Given the description of an element on the screen output the (x, y) to click on. 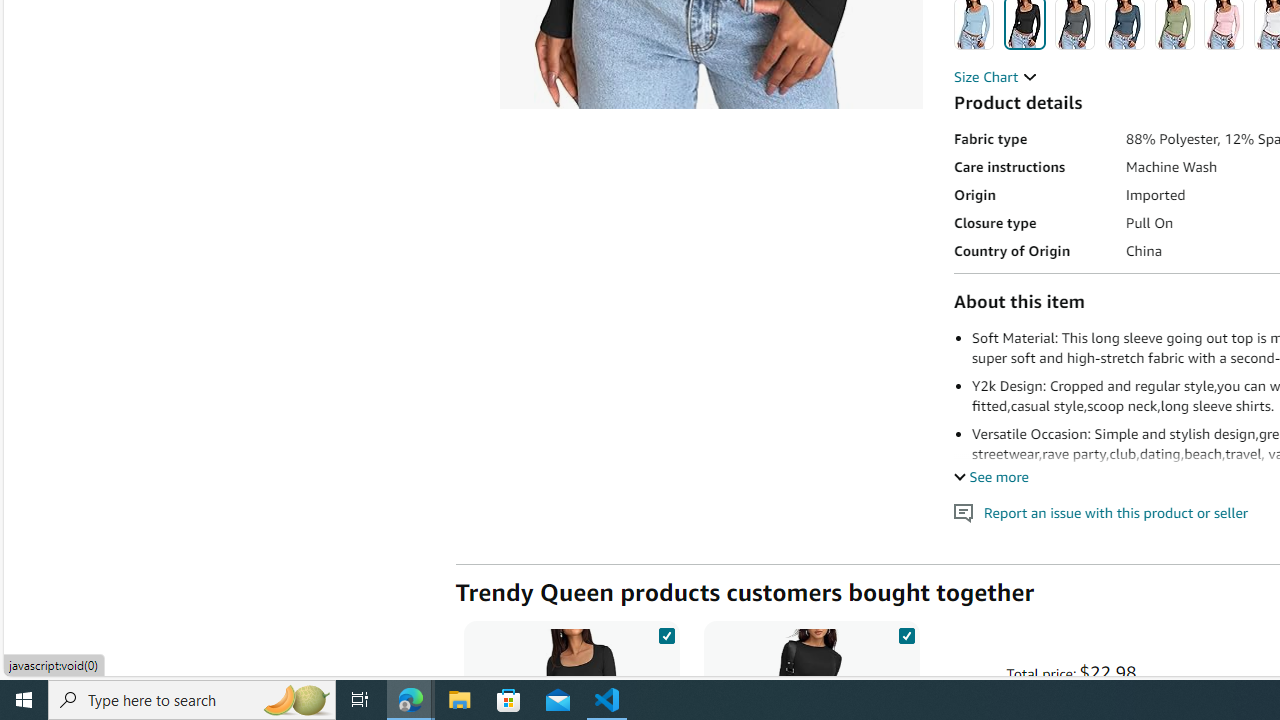
AutomationID: thematicBundleCheck-2 (906, 632)
Size Chart  (995, 76)
Report an issue with this product or seller (963, 512)
AutomationID: thematicBundleCheck-1 (665, 632)
